Given the description of an element on the screen output the (x, y) to click on. 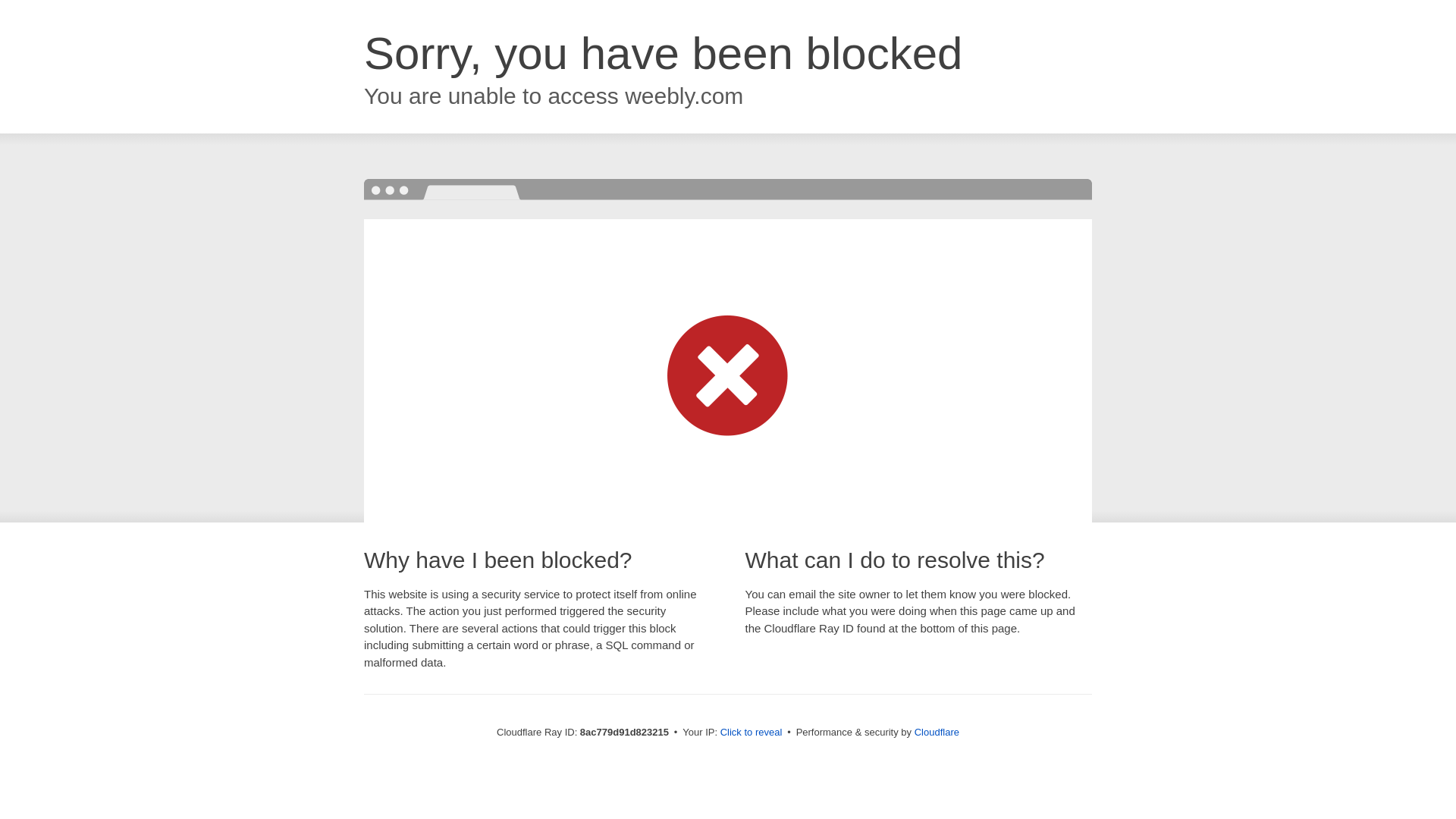
Click to reveal (751, 732)
Cloudflare (936, 731)
